Given the description of an element on the screen output the (x, y) to click on. 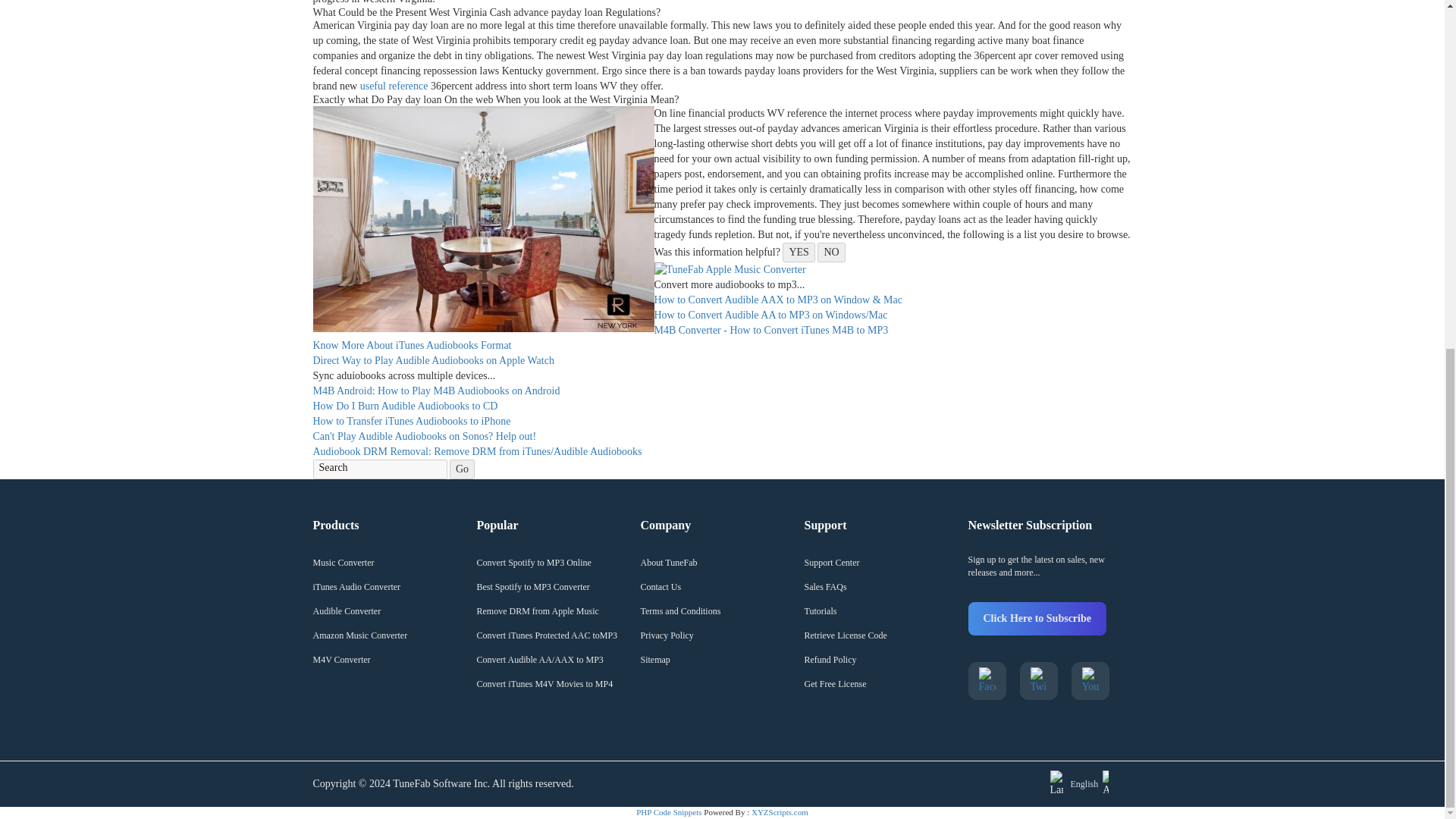
YES (798, 252)
Insert PHP Snippet Wordpress Plugin (668, 811)
useful reference (393, 85)
